Given the description of an element on the screen output the (x, y) to click on. 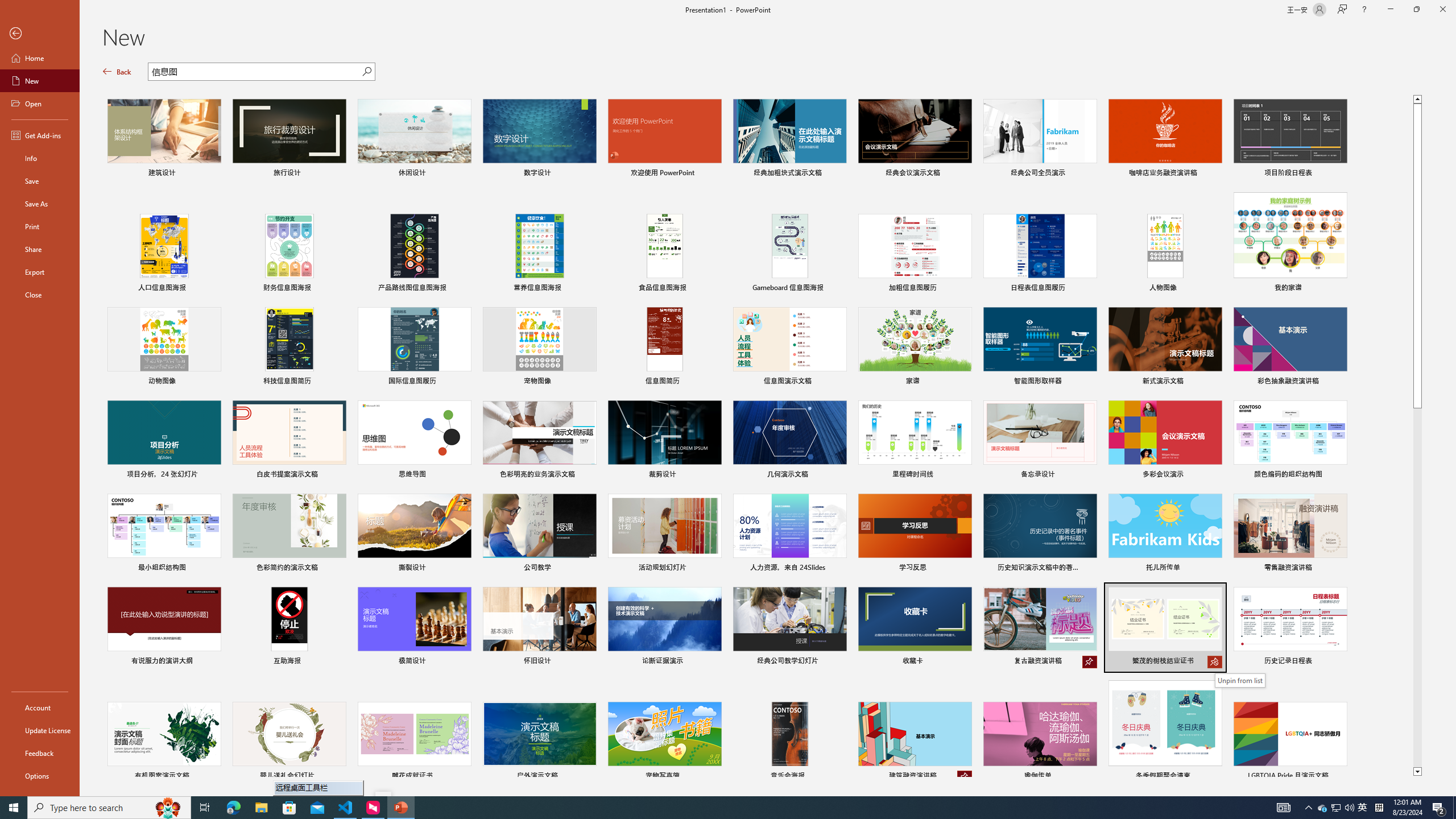
Update License (40, 730)
Search for online templates and themes (254, 73)
Get Add-ins (40, 134)
Save As (40, 203)
Print (40, 225)
